Given the description of an element on the screen output the (x, y) to click on. 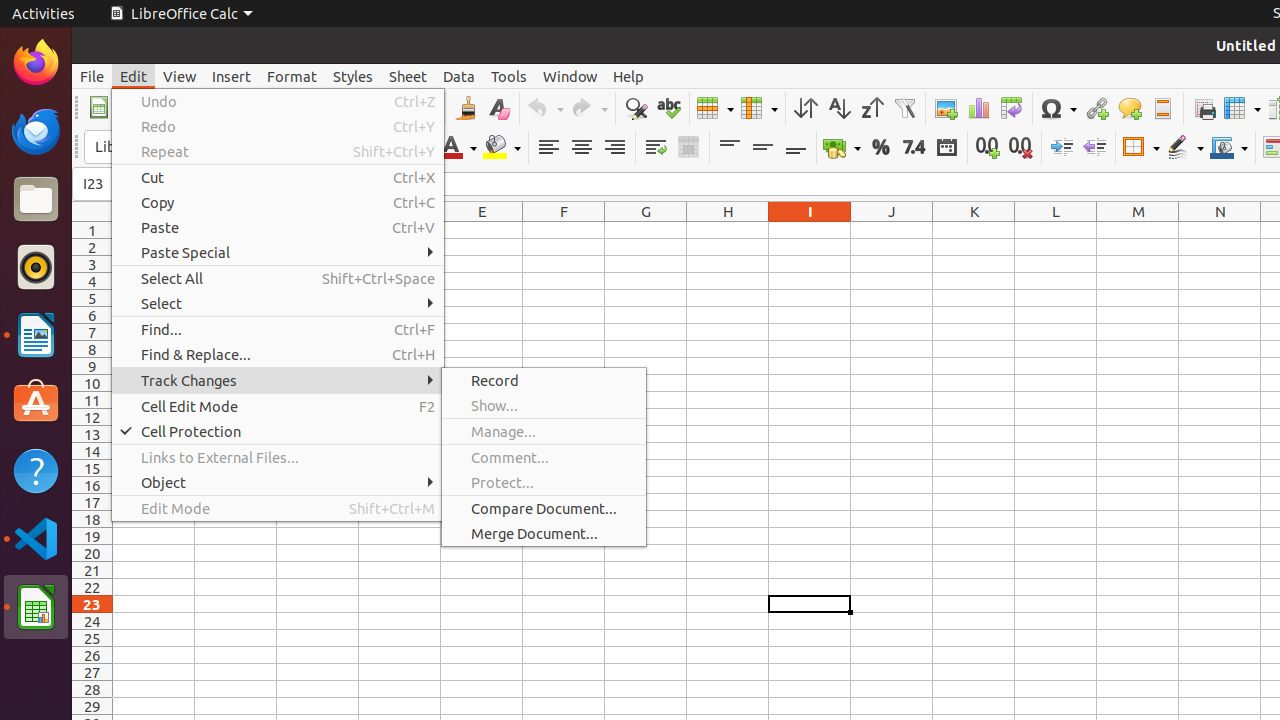
Comment Element type: push-button (1129, 108)
Edit Element type: menu (133, 76)
Sort Element type: push-button (805, 108)
Comment... Element type: menu-item (544, 457)
